Given the description of an element on the screen output the (x, y) to click on. 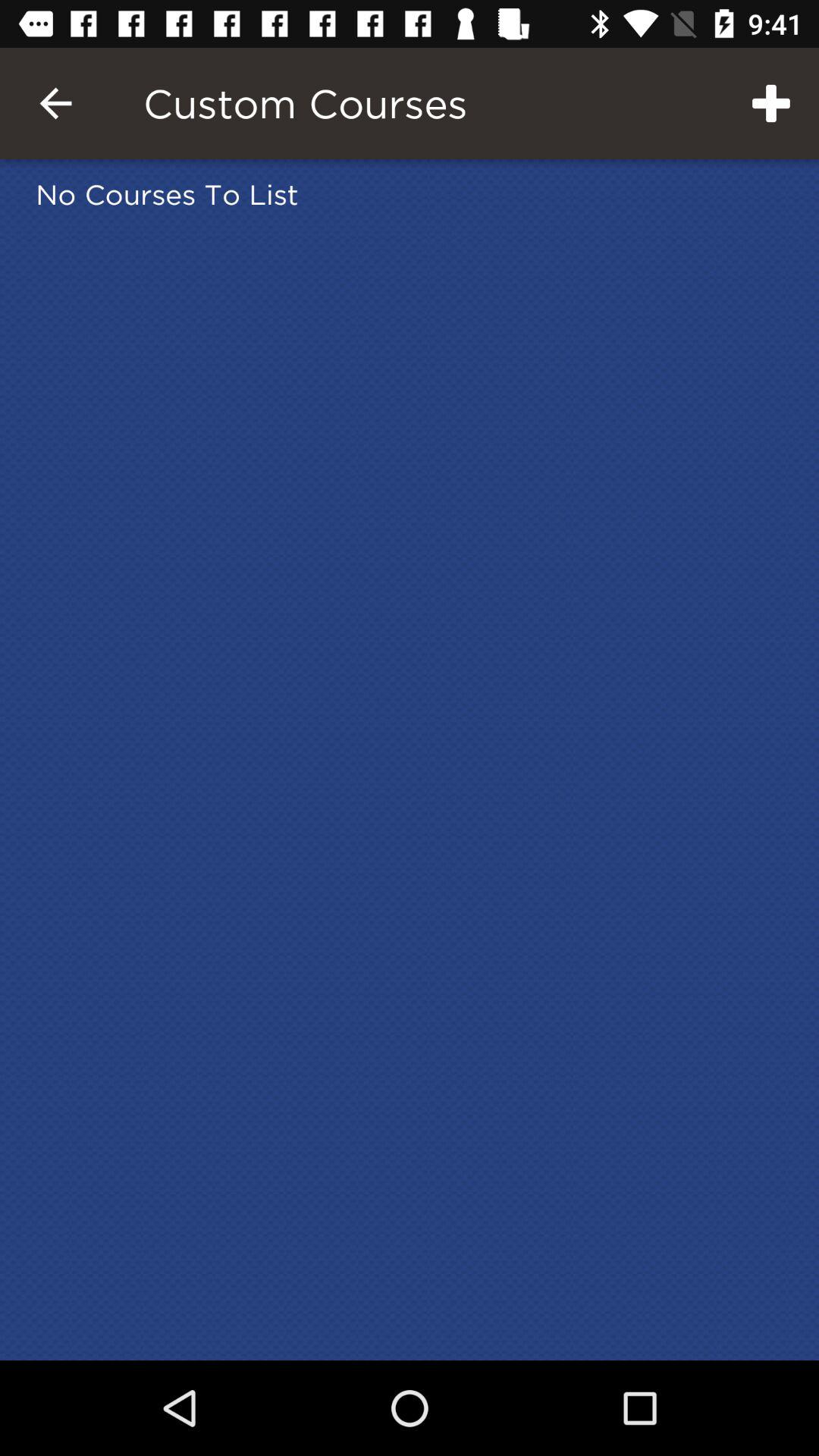
choose the item at the top right corner (771, 103)
